Given the description of an element on the screen output the (x, y) to click on. 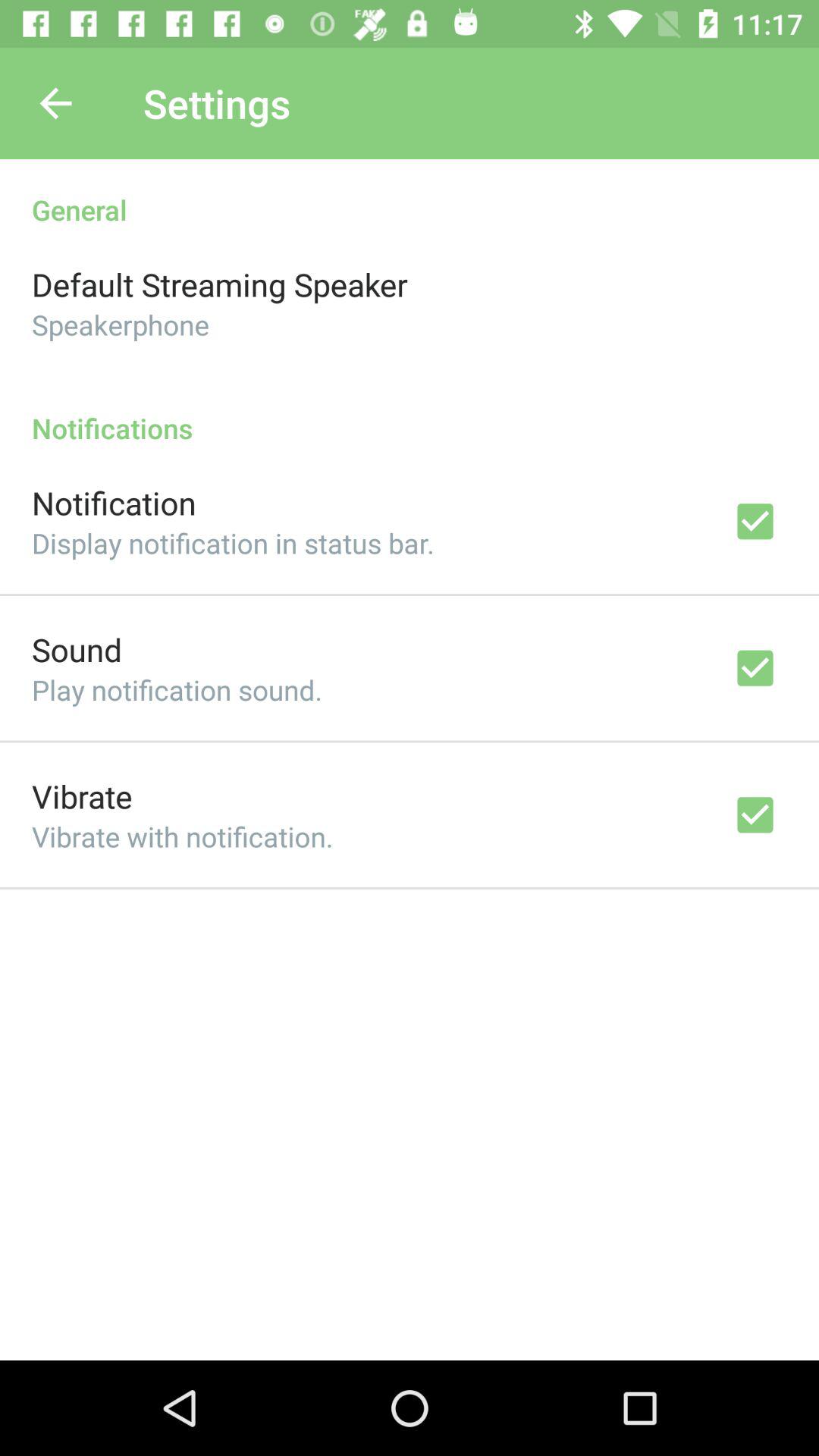
open icon above vibrate item (176, 689)
